Given the description of an element on the screen output the (x, y) to click on. 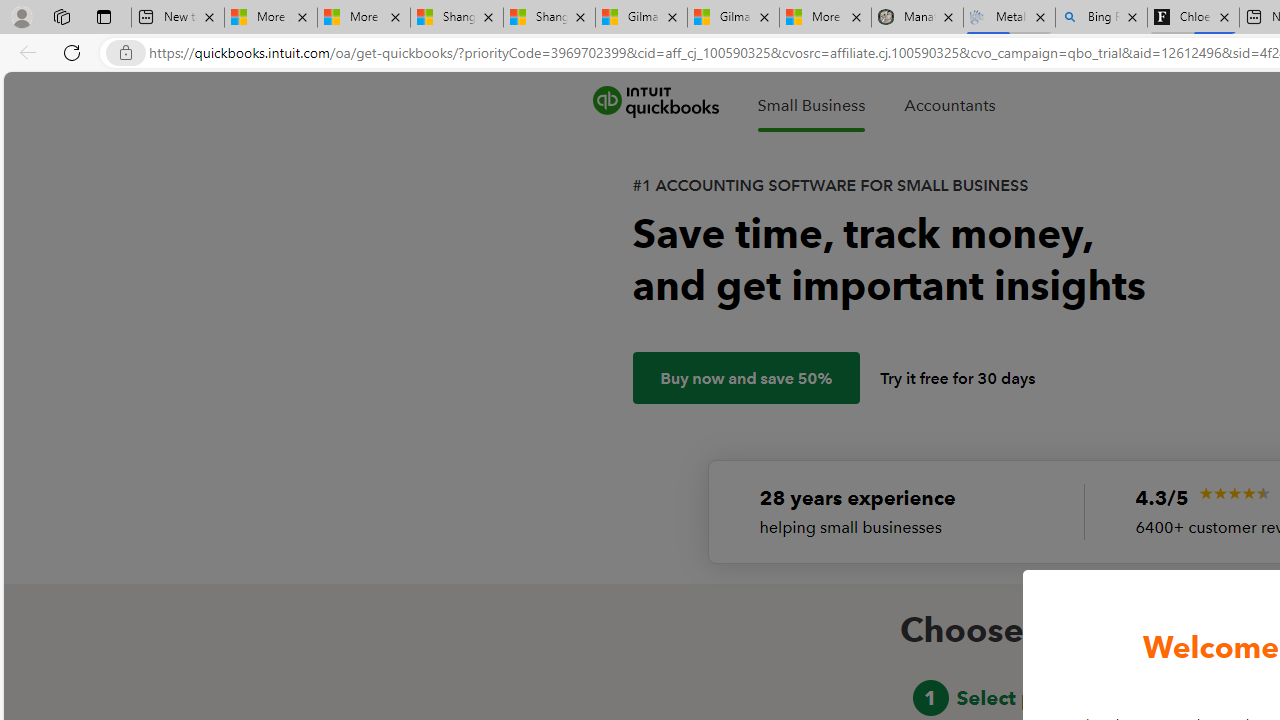
Small Business (811, 105)
Accountants (949, 105)
quickbooks (655, 101)
Chloe Sorvino (1193, 17)
Small Business (811, 105)
Buy now and save 50% (746, 378)
Manatee Mortality Statistics | FWC (916, 17)
Gilma and Hector both pose tropical trouble for Hawaii (733, 17)
Bing Real Estate - Home sales and rental listings (1101, 17)
